Given the description of an element on the screen output the (x, y) to click on. 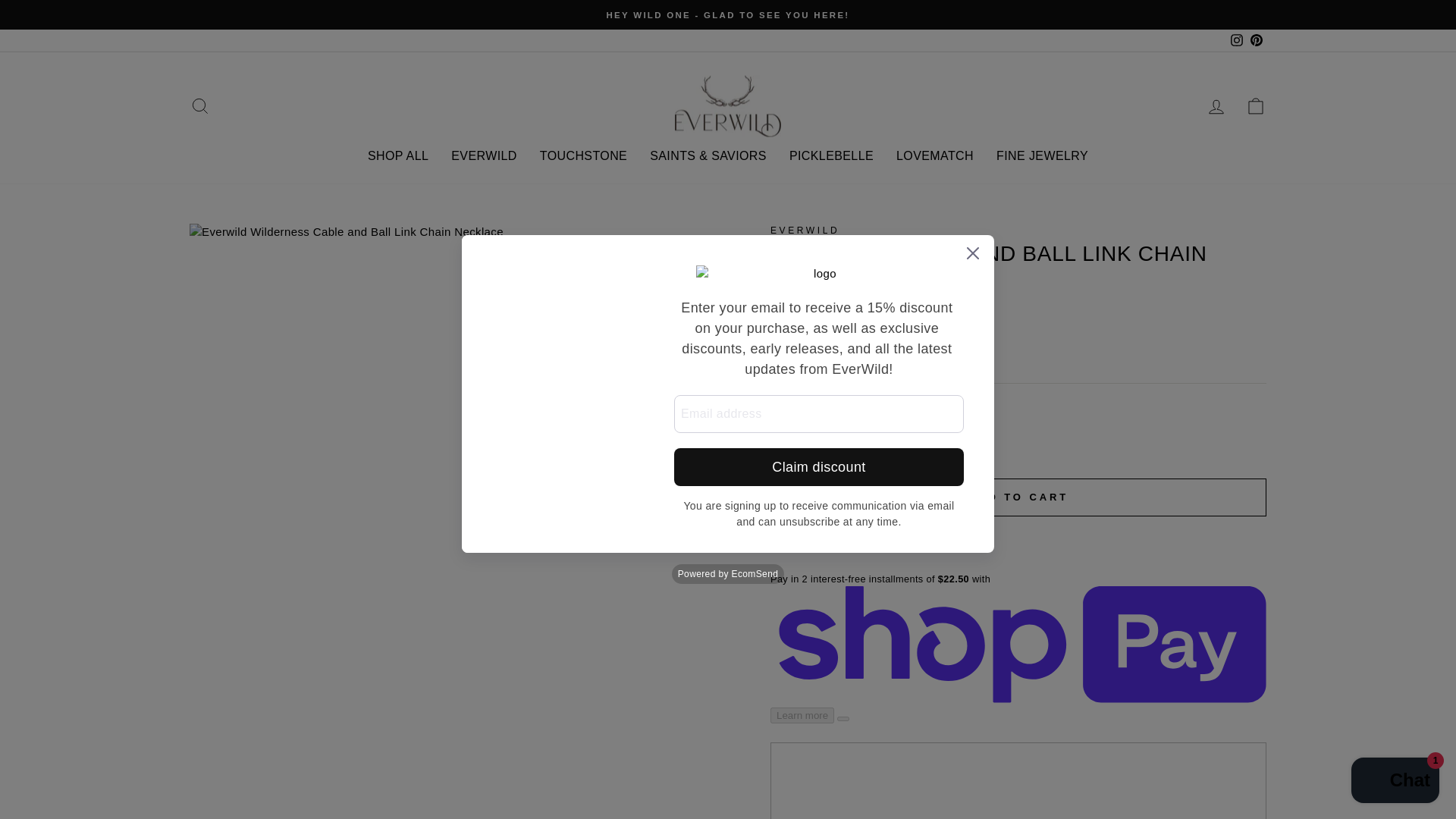
Everwild (805, 230)
Everwild Designs on Instagram (1236, 40)
Everwild Designs on Pinterest (1256, 40)
Shopify online store chat (1395, 781)
